Given the description of an element on the screen output the (x, y) to click on. 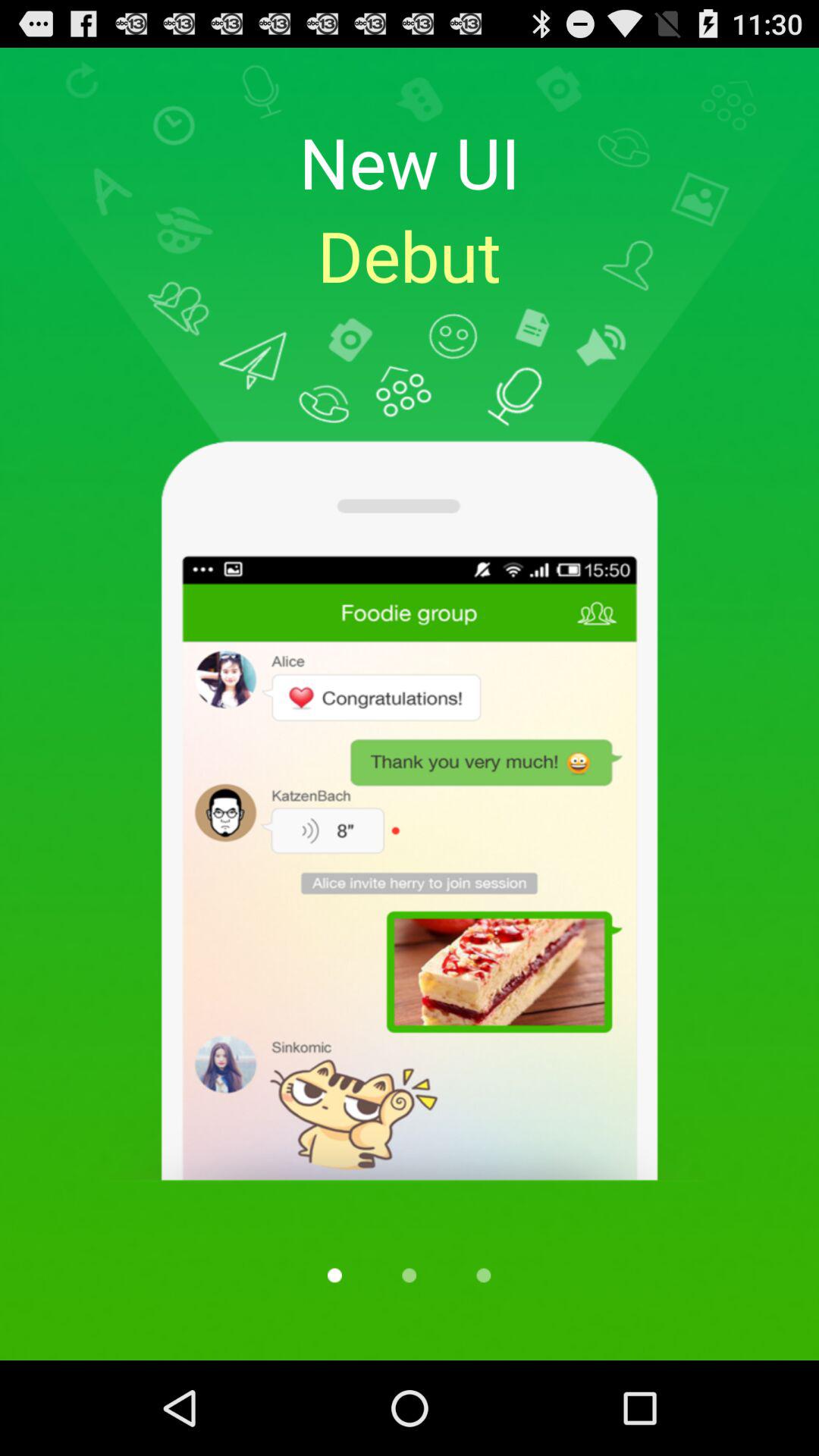
move to page 2 of 3 (408, 1275)
